Given the description of an element on the screen output the (x, y) to click on. 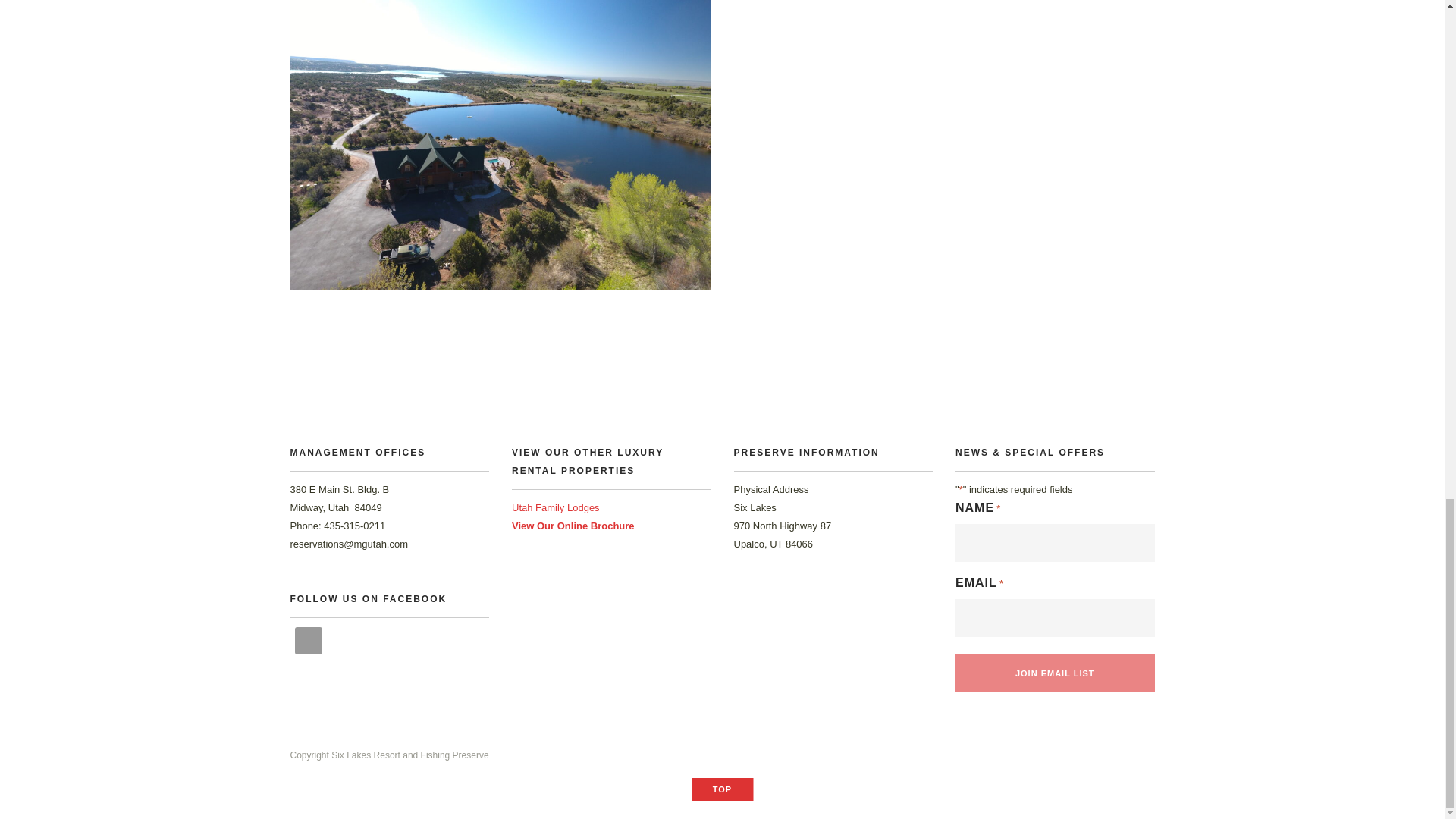
Join Email List (1054, 672)
